Given the description of an element on the screen output the (x, y) to click on. 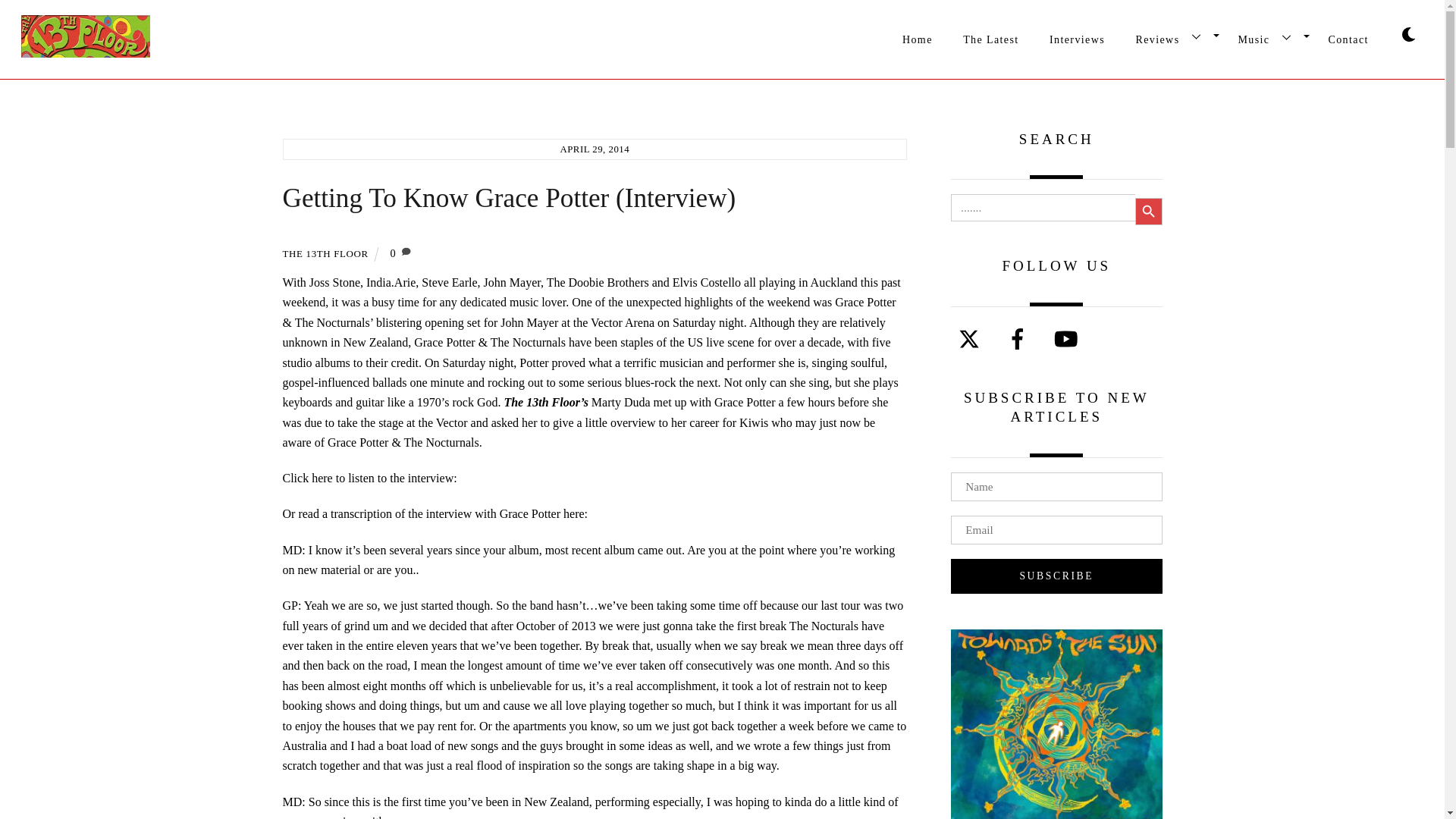
Music (1267, 36)
THE 13TH FLOOR (325, 253)
Interviews (1077, 36)
Contact (1348, 37)
Subscribe (1055, 575)
The 13th Floor (85, 50)
0 (722, 33)
Reviews (393, 253)
Home (1170, 35)
The Latest (917, 38)
Dark mode (990, 36)
